Given the description of an element on the screen output the (x, y) to click on. 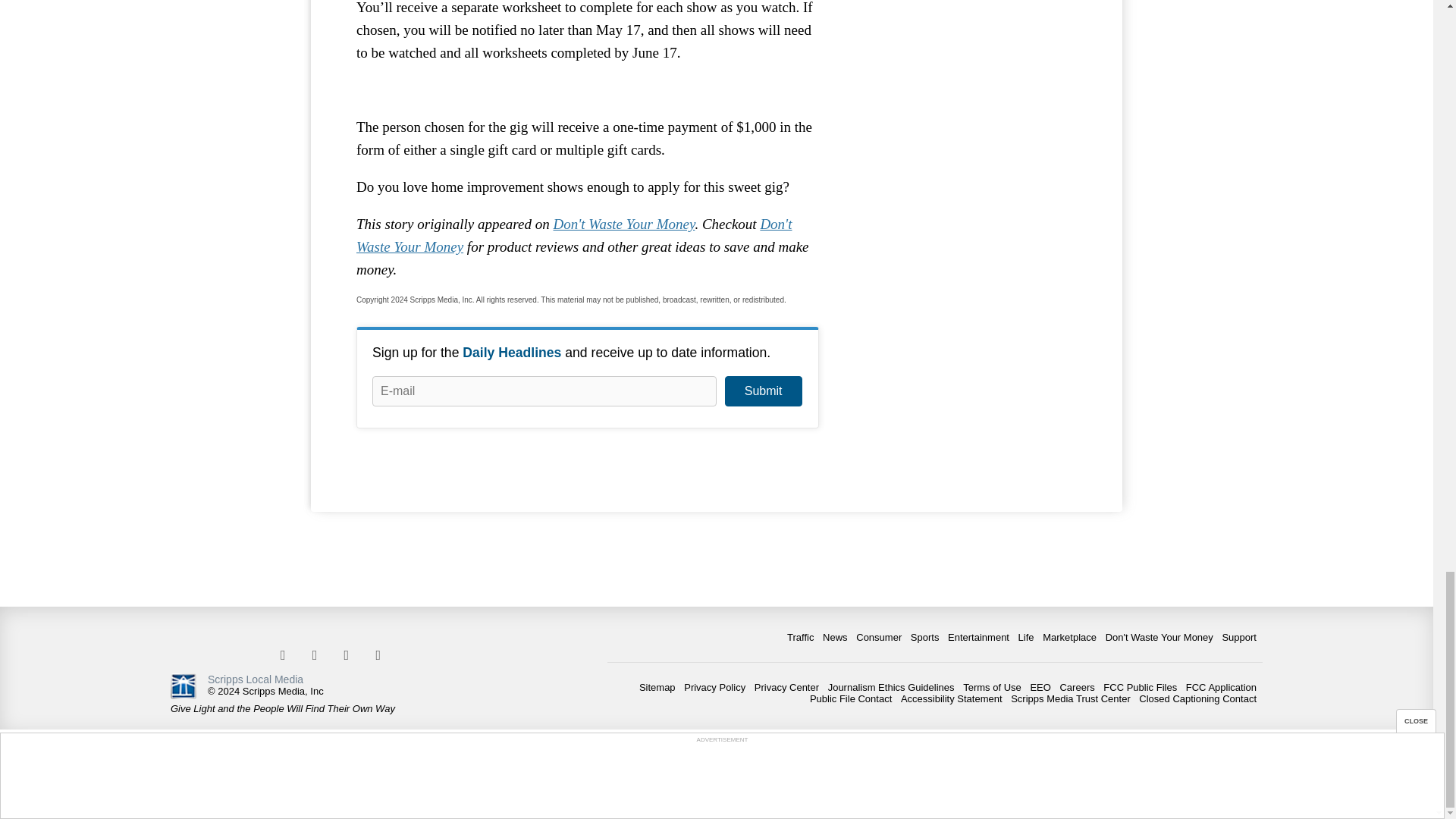
Submit (763, 390)
